Given the description of an element on the screen output the (x, y) to click on. 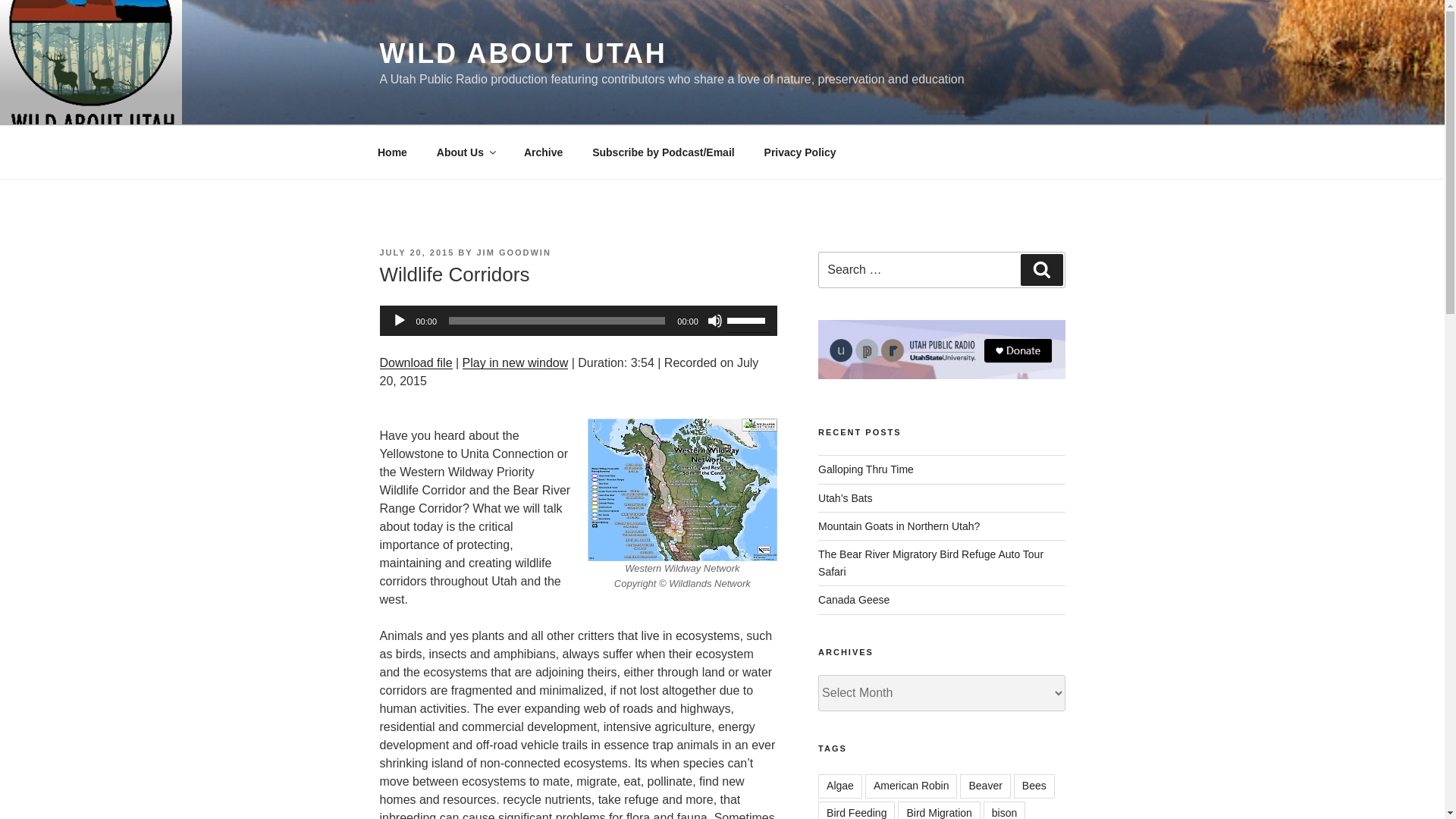
Galloping Thru Time (866, 469)
Canada Geese (853, 599)
JULY 20, 2015 (416, 252)
Mountain Goats in Northern Utah? (898, 526)
Visit Donate to Utah Public Radio Page (941, 349)
Mute (714, 320)
Archive (543, 151)
WILD ABOUT UTAH (522, 52)
Play (398, 320)
Play in new window (516, 362)
Home (392, 151)
Privacy Policy (799, 151)
Wildlife Corridors  (414, 362)
Download file (414, 362)
About Us (464, 151)
